Given the description of an element on the screen output the (x, y) to click on. 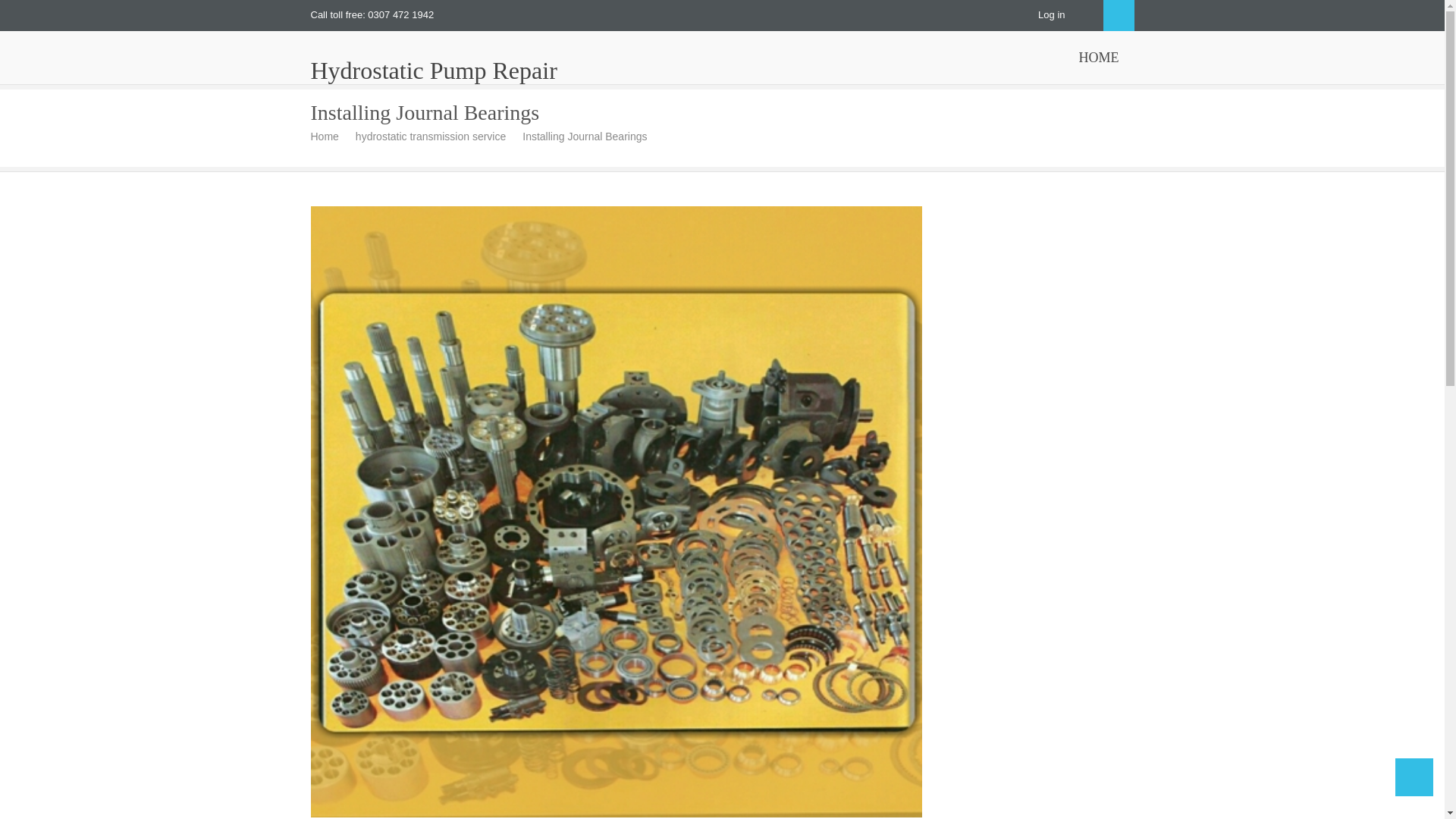
HOME (1098, 57)
Log in (1051, 14)
Search (1118, 15)
Search (1118, 15)
hydrostatic transmission service (435, 136)
Home (330, 136)
Hydrostatic Pump Repair (434, 70)
